Given the description of an element on the screen output the (x, y) to click on. 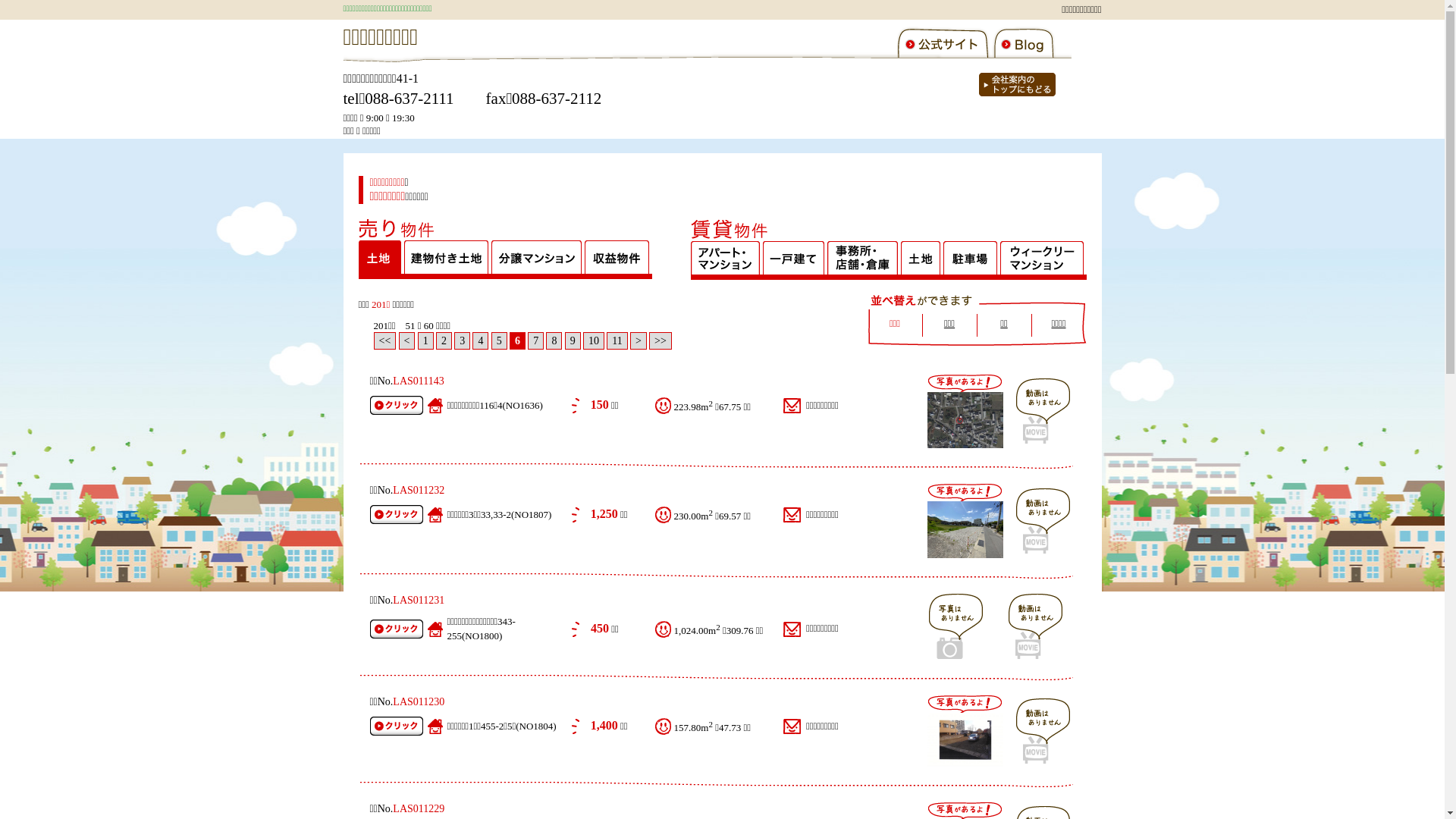
5 Element type: text (499, 340)
9 Element type: text (572, 340)
>> Element type: text (660, 340)
<< Element type: text (384, 340)
3 Element type: text (462, 340)
1 Element type: text (425, 340)
8 Element type: text (553, 340)
11 Element type: text (616, 340)
7 Element type: text (535, 340)
10 Element type: text (593, 340)
< Element type: text (406, 340)
2 Element type: text (443, 340)
4 Element type: text (480, 340)
> Element type: text (638, 340)
